Given the description of an element on the screen output the (x, y) to click on. 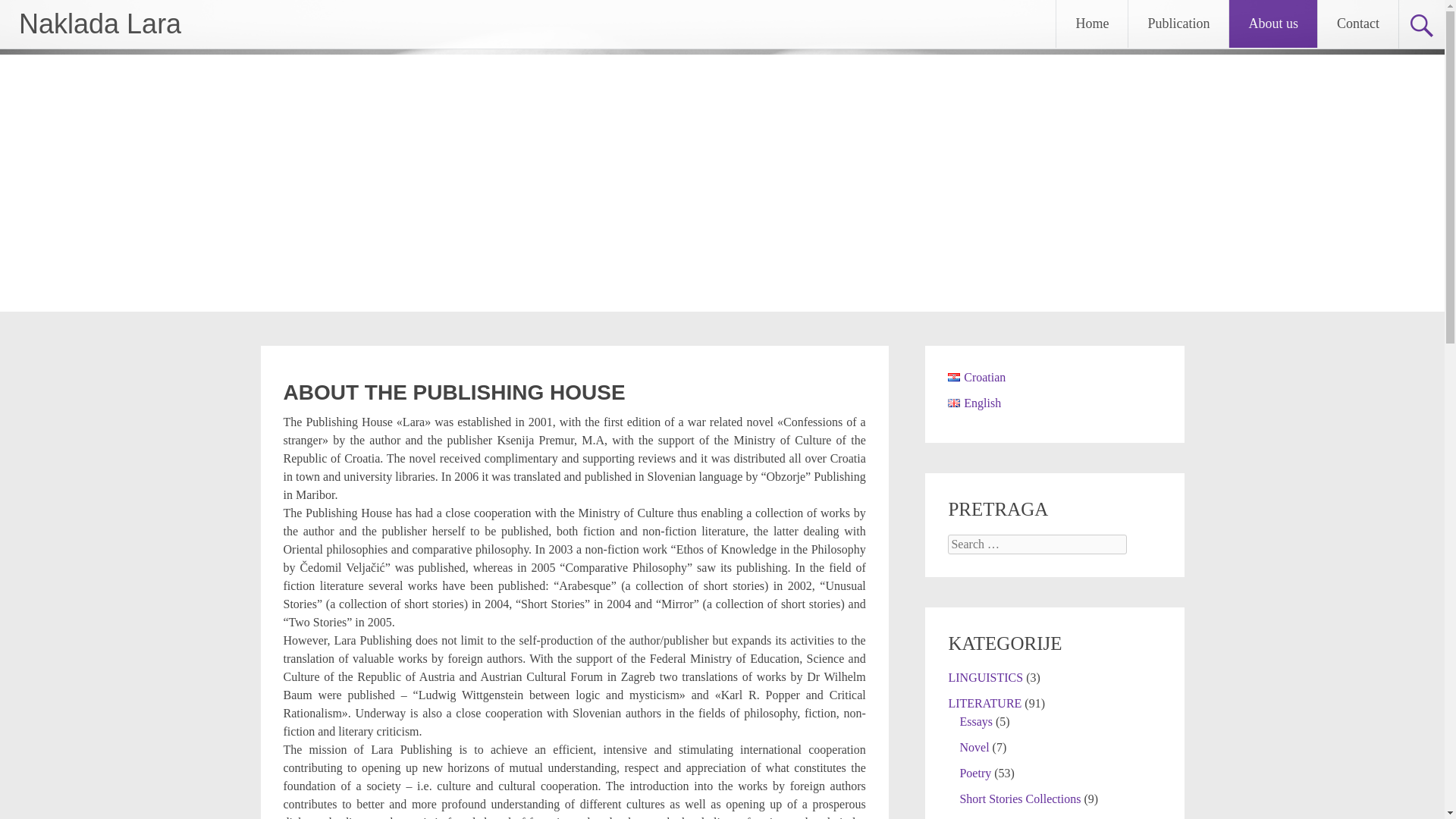
Croatian (953, 377)
Essays (975, 721)
Short Stories Collections (1019, 798)
Publication (1178, 23)
Skip to content (1111, 9)
About us (1272, 23)
LINGUISTICS (985, 676)
LITERATURE (984, 703)
English (953, 402)
Poetry (975, 772)
